Given the description of an element on the screen output the (x, y) to click on. 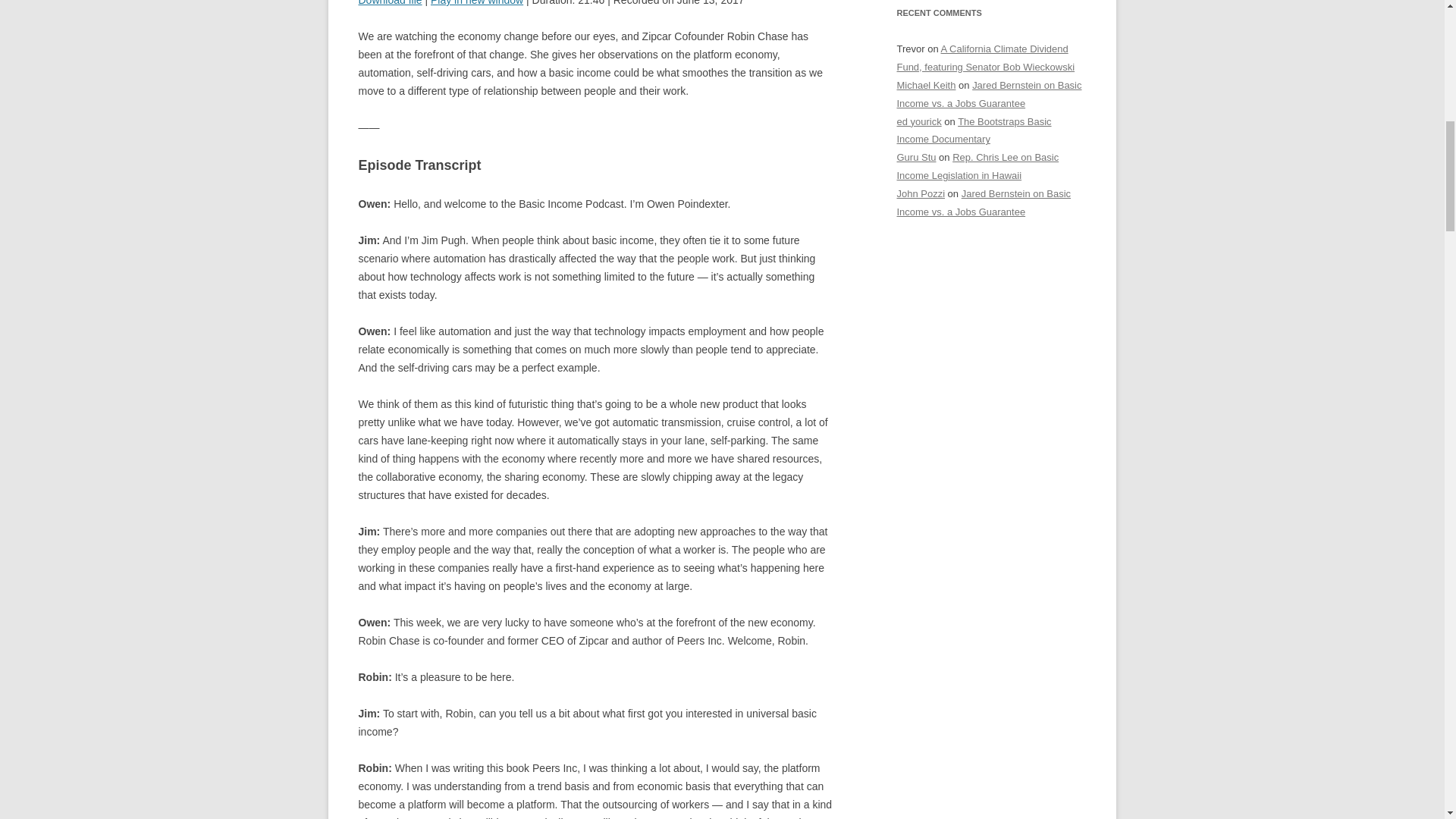
Download file (390, 2)
Play in new window (476, 2)
